Given the description of an element on the screen output the (x, y) to click on. 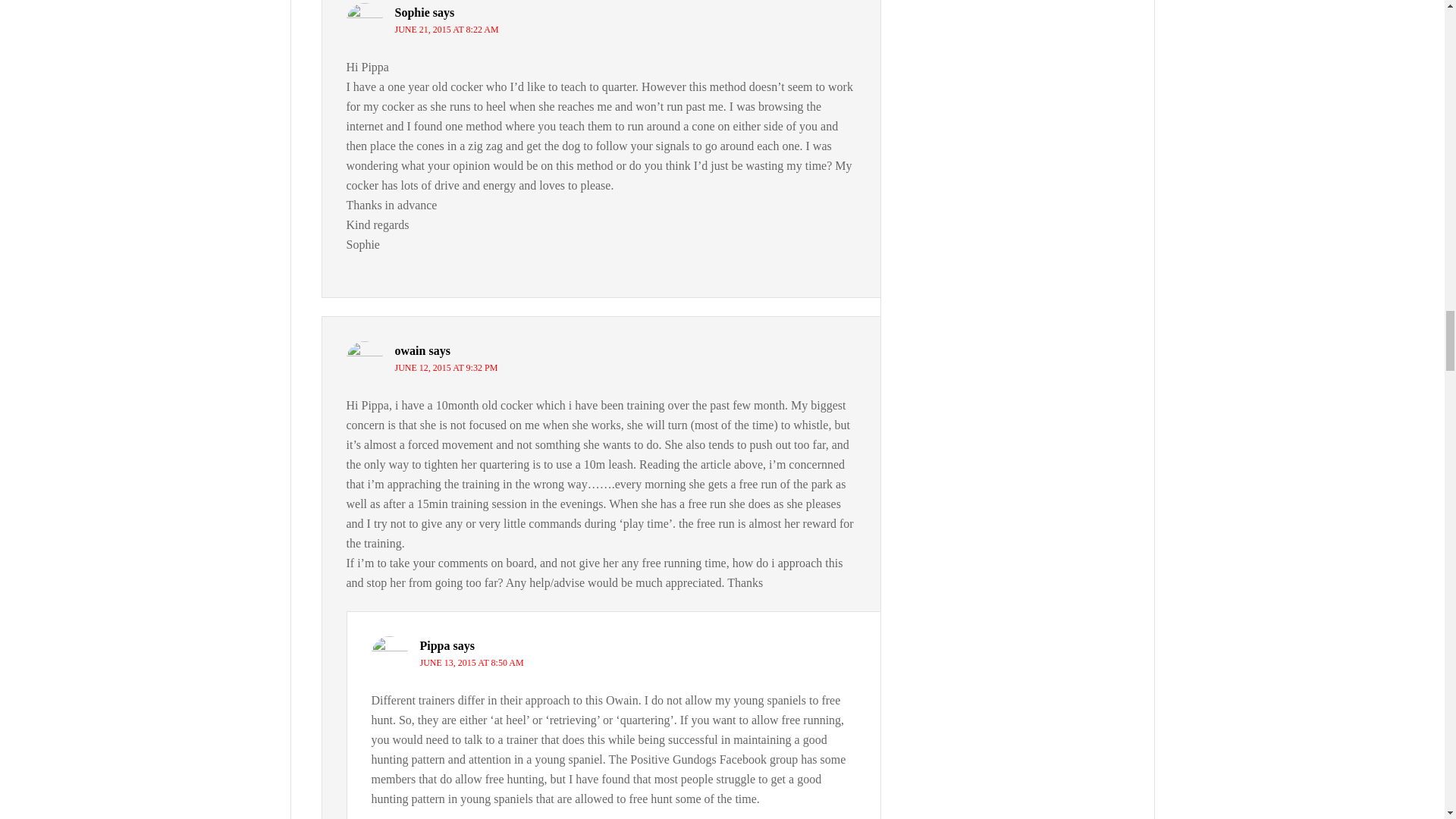
JUNE 12, 2015 AT 9:32 PM (445, 367)
JUNE 13, 2015 AT 8:50 AM (472, 662)
JUNE 21, 2015 AT 8:22 AM (445, 29)
